Given the description of an element on the screen output the (x, y) to click on. 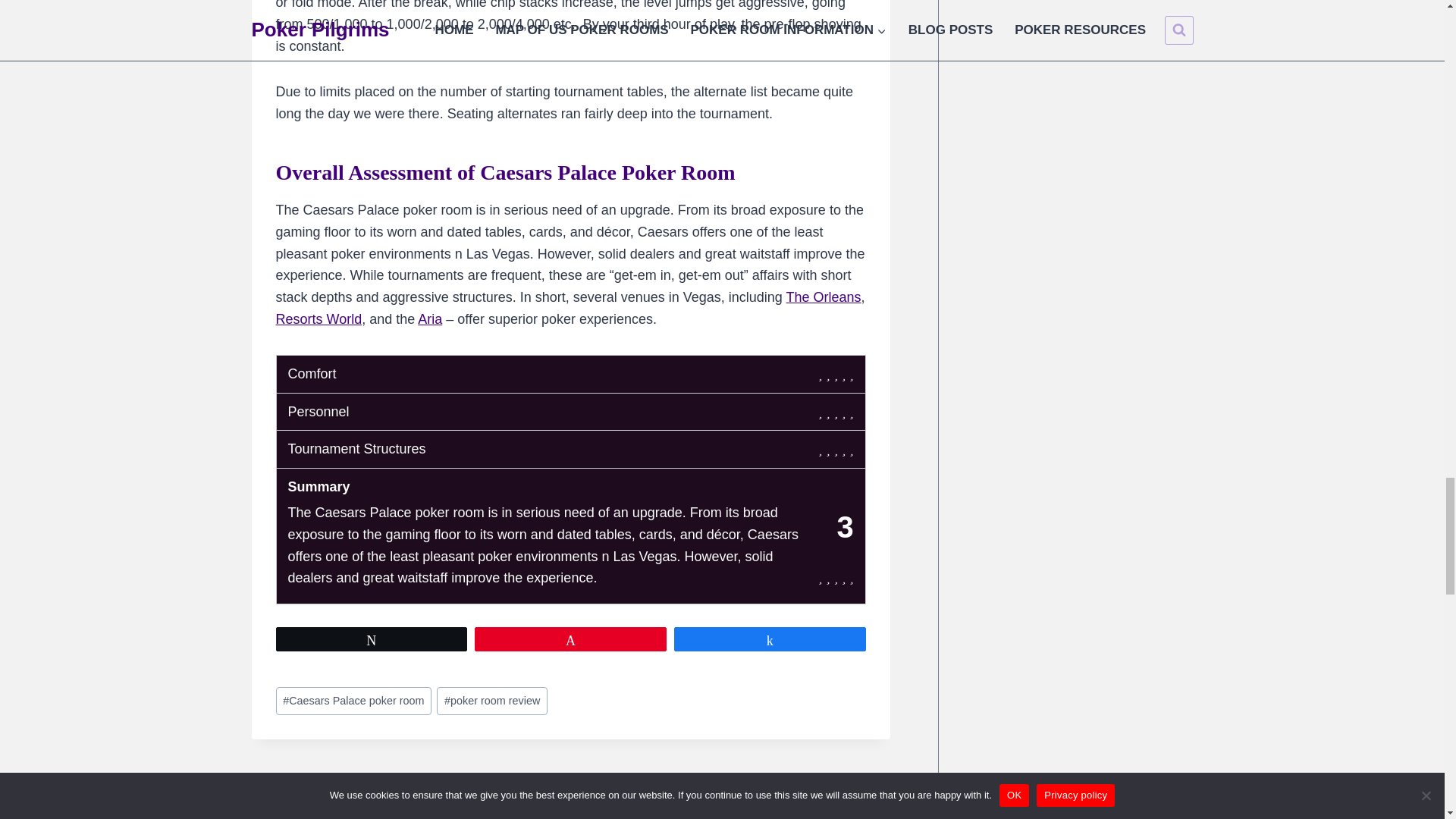
Caesars Palace poker room (410, 796)
Resorts World (354, 700)
Aria (319, 319)
poker room review (429, 319)
The Orleans (491, 700)
